Given the description of an element on the screen output the (x, y) to click on. 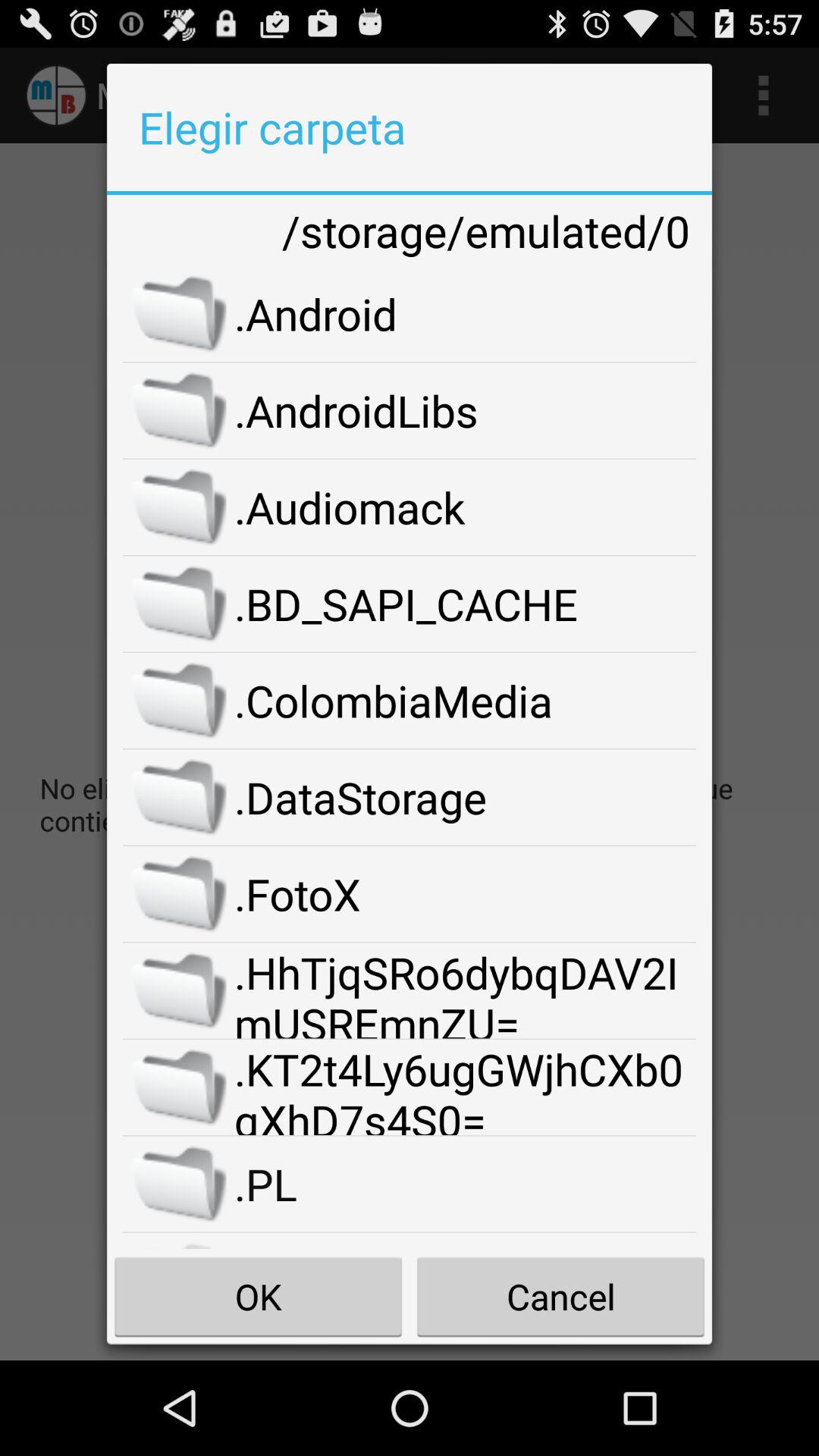
flip to .datastorage app (465, 797)
